Given the description of an element on the screen output the (x, y) to click on. 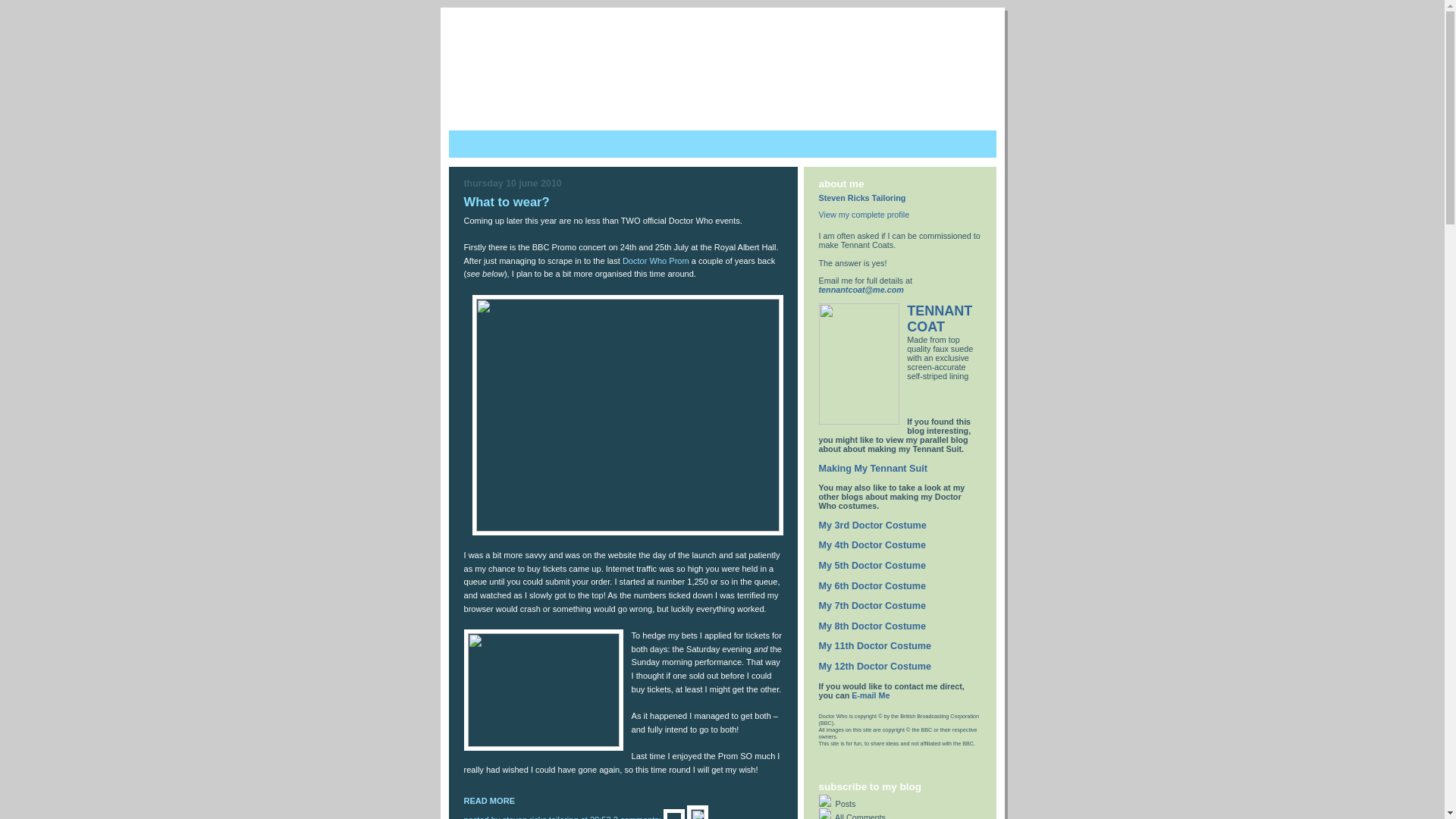
My 11th Doctor Costume (874, 645)
What to wear? (507, 201)
steven ricks tailoring (540, 816)
My 12th Doctor Costume (874, 665)
Email Post (675, 816)
READ MORE (489, 800)
My 8th Doctor Costume (872, 625)
Making My Tennant Suit (872, 468)
2 comments: (637, 816)
permanent link (600, 816)
What to wear? (489, 800)
author profile (540, 816)
View my complete profile (864, 214)
E-mail Me (870, 695)
Doctor Who Prom (655, 260)
